Given the description of an element on the screen output the (x, y) to click on. 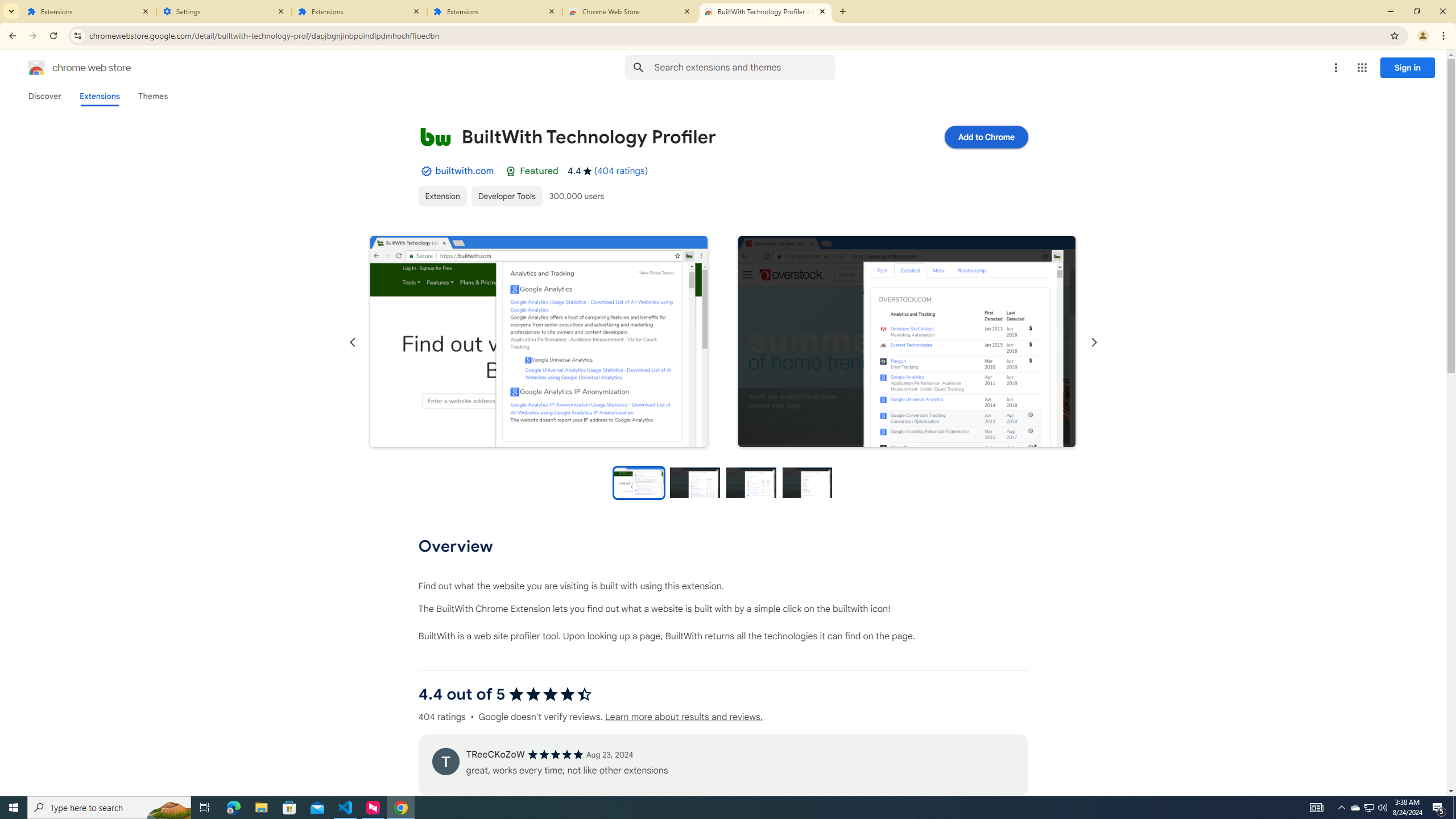
Chrome Web Store logo chrome web store (67, 67)
Preview slide 1 (637, 482)
Next slide (1093, 342)
Extension (442, 195)
4.4 out of 5 stars (549, 693)
404 ratings (620, 170)
Developer Tools (506, 195)
Item logo image for BuiltWith Technology Profiler (434, 136)
